Given the description of an element on the screen output the (x, y) to click on. 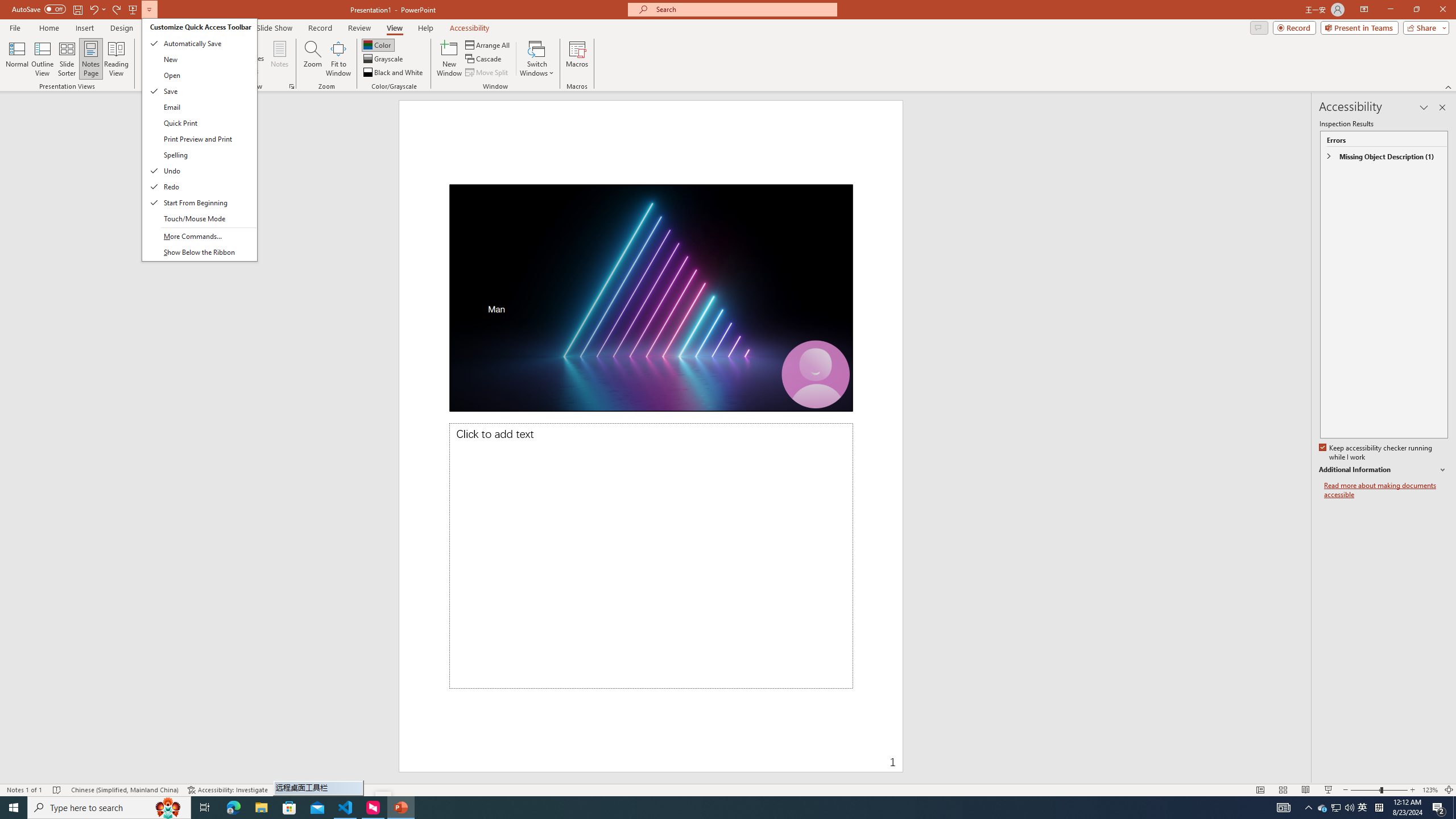
Fit to Window (338, 58)
Zoom... (312, 58)
Action Center, 2 new notifications (1439, 807)
Notes (279, 58)
